Given the description of an element on the screen output the (x, y) to click on. 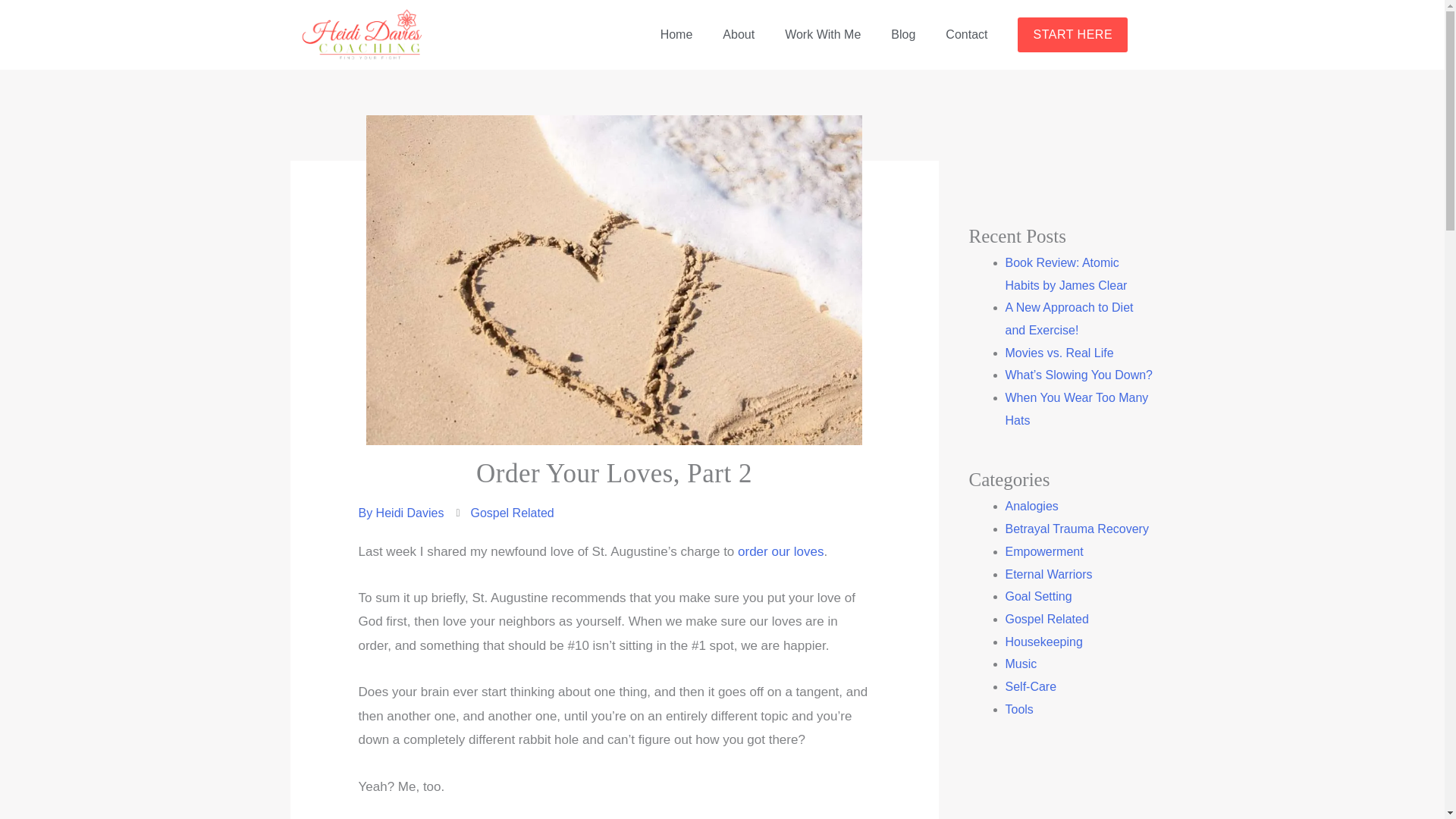
Goal Setting (1038, 595)
Eternal Warriors (1049, 574)
When You Wear Too Many Hats (1077, 408)
Movies vs. Real Life (1059, 352)
Self-Care (1031, 686)
Tools (1019, 708)
Empowerment (1044, 551)
order our loves (781, 551)
Gospel Related (1047, 618)
START HERE (1071, 34)
Gospel Related (511, 512)
Analogies (1032, 505)
Blog (903, 34)
Work With Me (823, 34)
Betrayal Trauma Recovery (1077, 528)
